Given the description of an element on the screen output the (x, y) to click on. 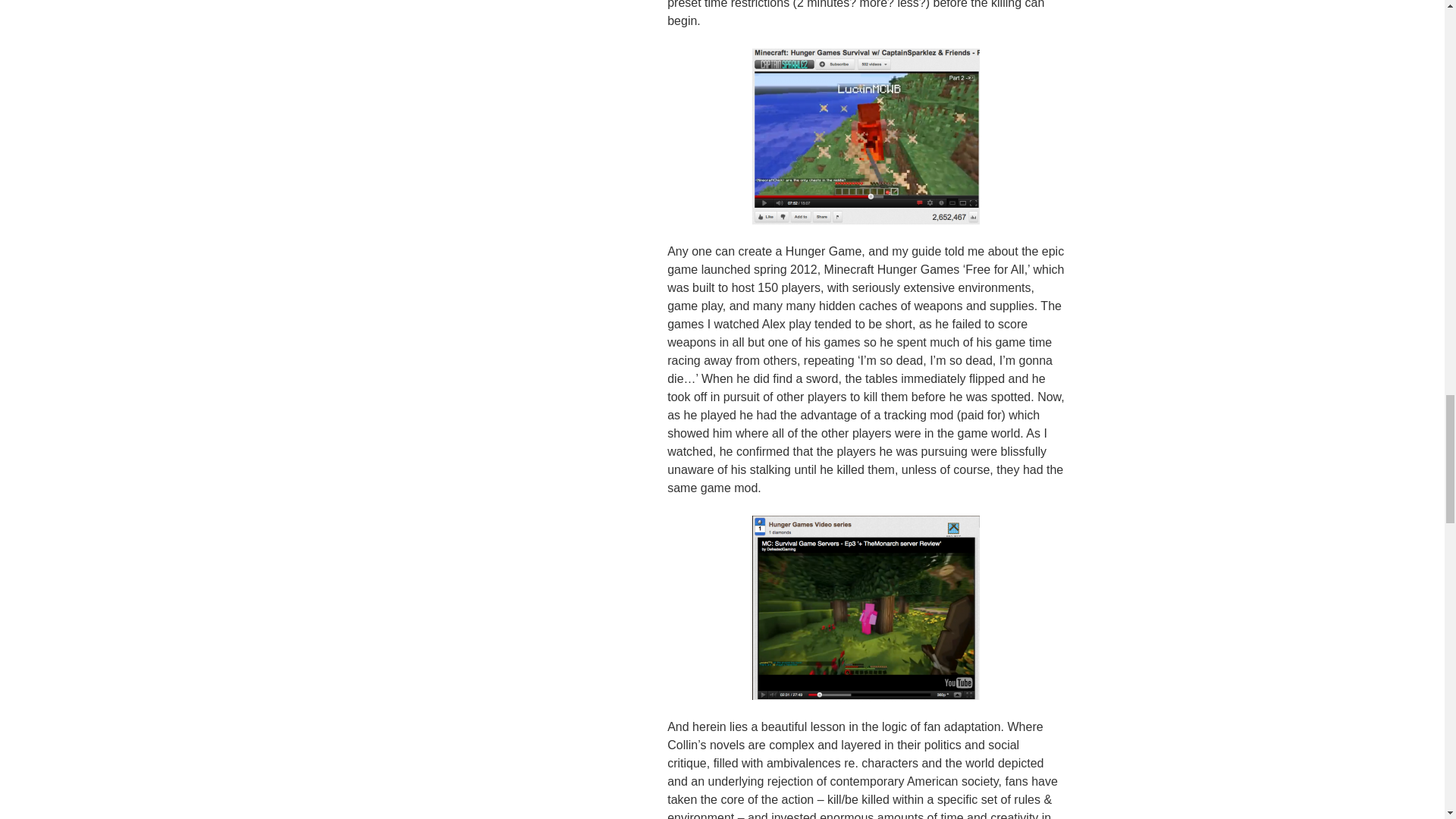
MC Survival Game Servers Ep3 (865, 607)
